Given the description of an element on the screen output the (x, y) to click on. 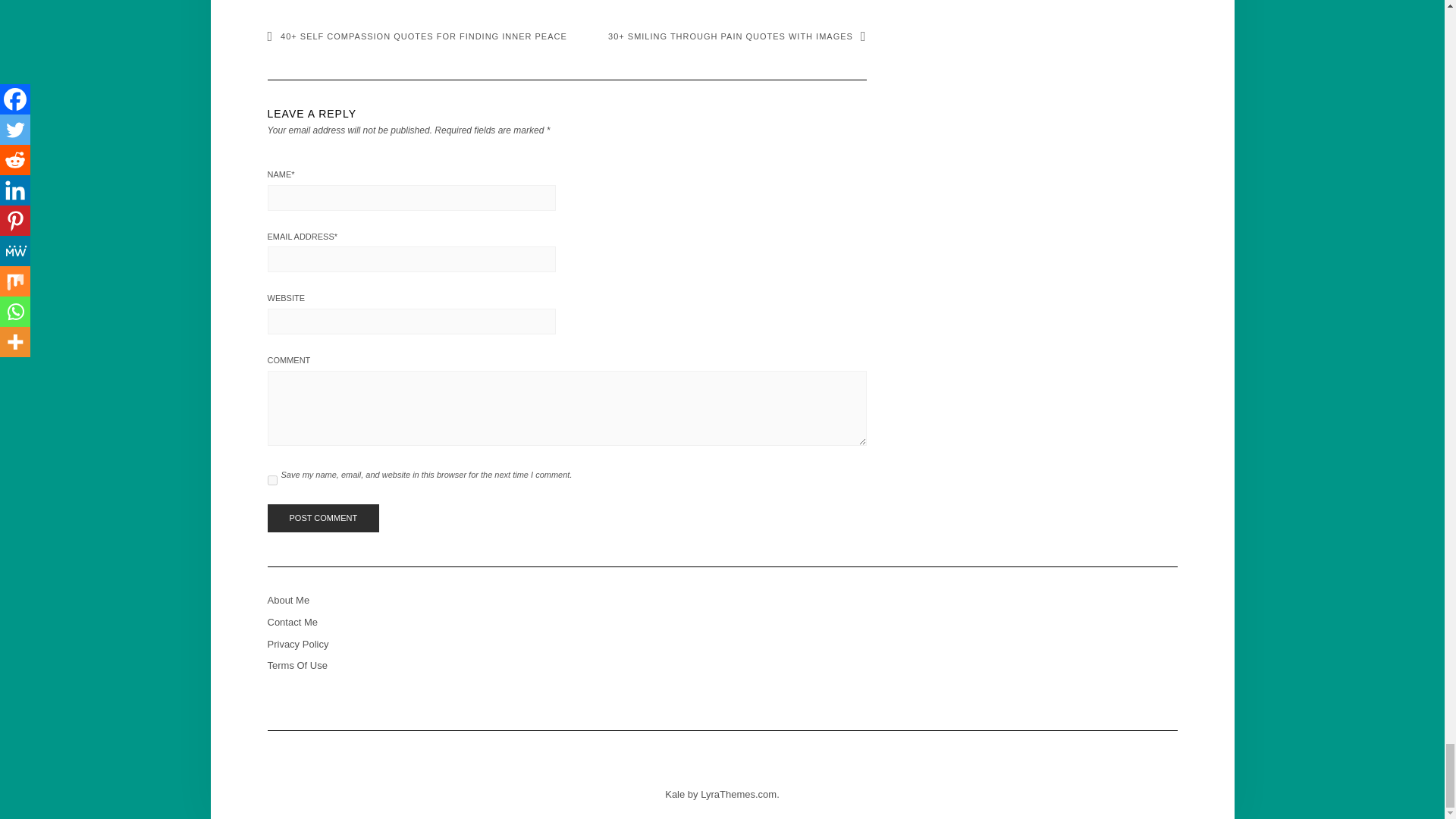
Post Comment (322, 518)
Post Comment (322, 518)
yes (271, 480)
